Given the description of an element on the screen output the (x, y) to click on. 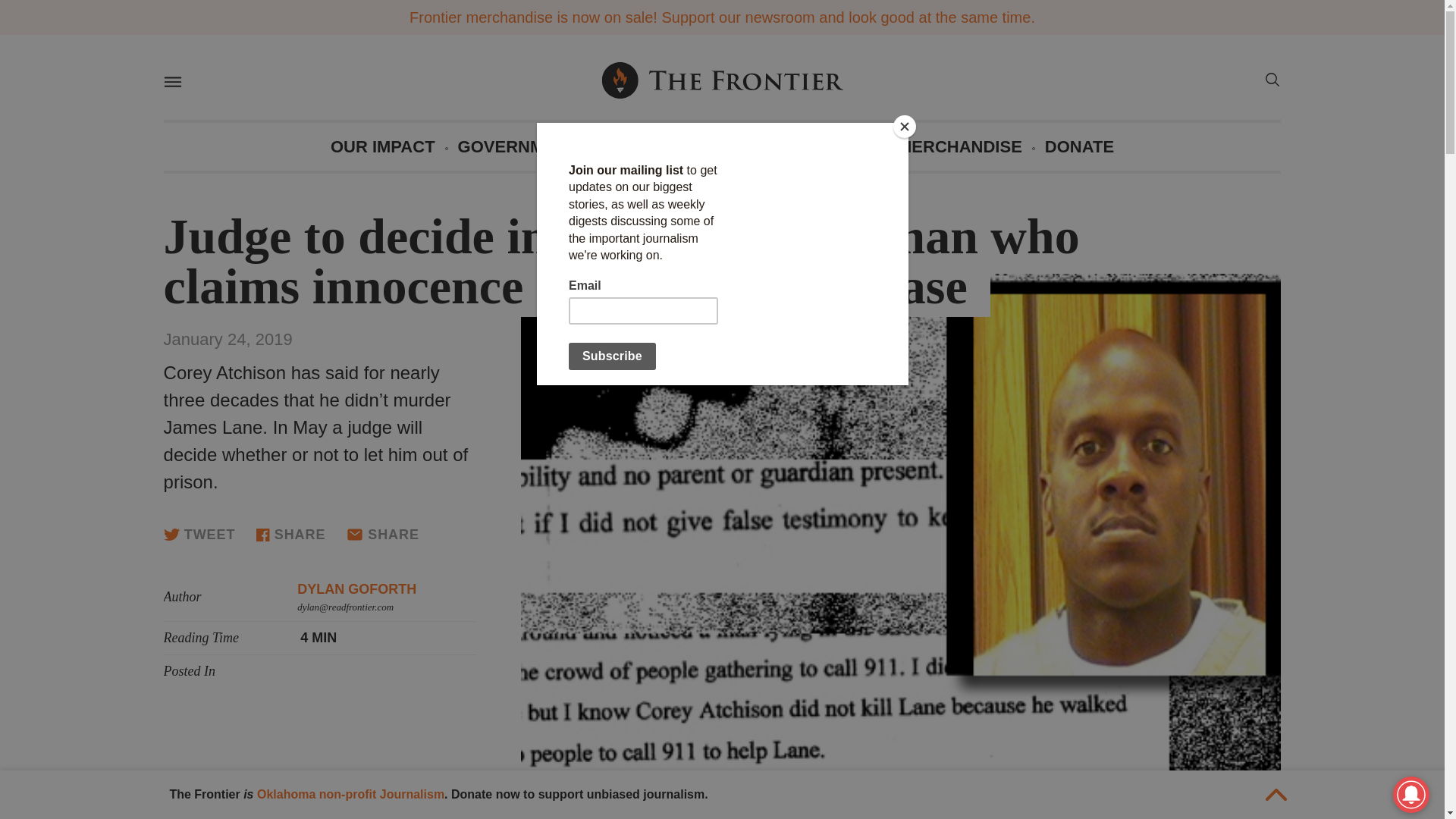
MERCHANDISE (960, 146)
menu-outline (171, 81)
PODCASTS (739, 146)
SEARCH-OUTLINE (1271, 79)
OUR IMPACT (382, 146)
SHARE (290, 534)
GOVERNMENT (518, 146)
JUSTICE (634, 146)
TWEET (199, 534)
DYLAN GOFORTH (356, 589)
SEARCH-OUTLINE (1271, 82)
SHARE (382, 534)
DONATE (1079, 146)
HEALTH (841, 146)
